Given the description of an element on the screen output the (x, y) to click on. 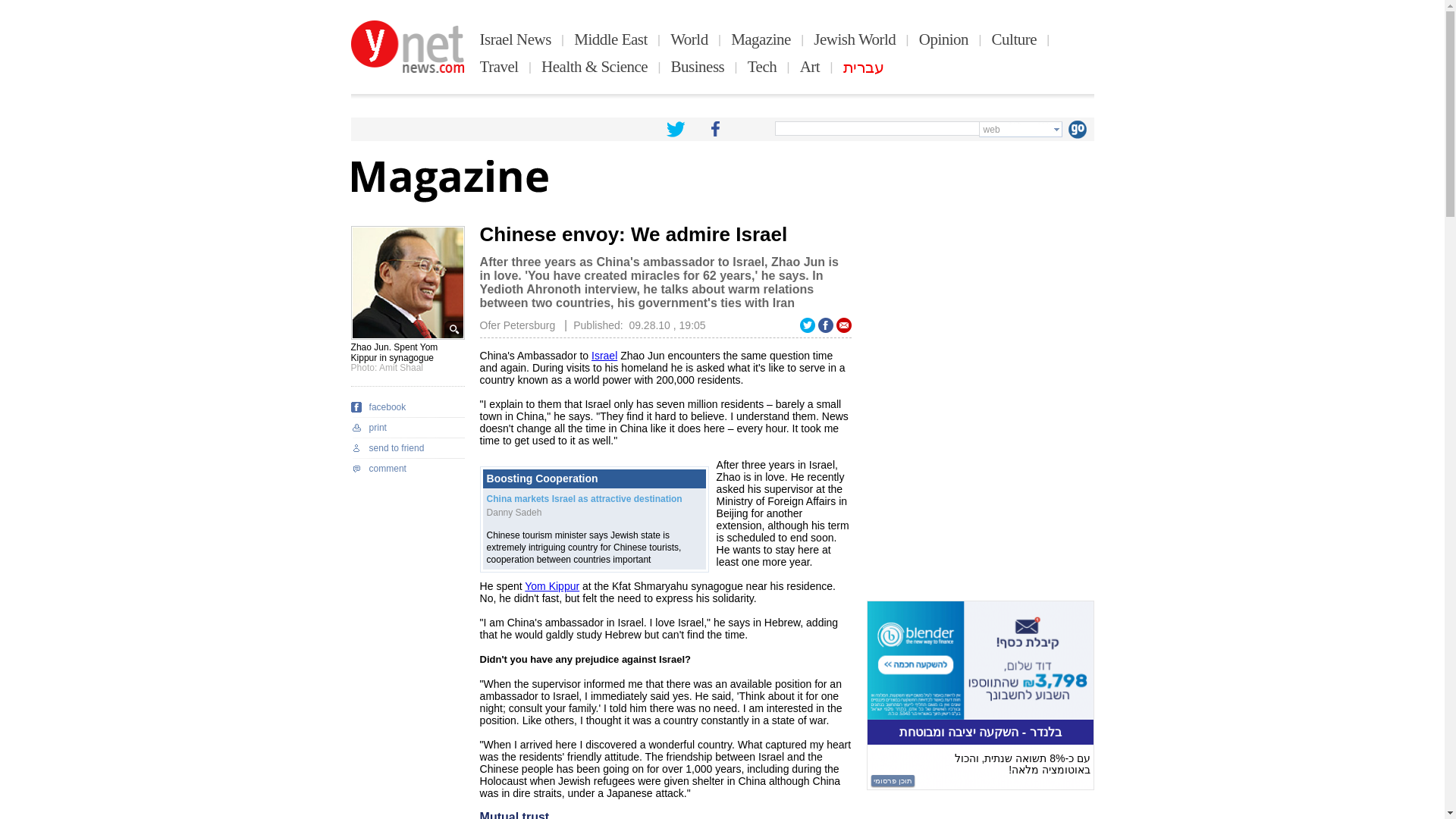
Art (810, 66)
Israel News (515, 39)
Business (698, 66)
Jewish World (854, 39)
3rd party ad content (980, 320)
Opinion (943, 39)
Tech (762, 66)
Magazine (760, 39)
3rd party ad content (980, 695)
Culture (1013, 39)
Travel (499, 66)
Ynetnews on Facebook (715, 128)
Ynetnews - news and updates 24 hours (407, 46)
Middle East (610, 39)
Ynetnews on Twitter (675, 129)
